Given the description of an element on the screen output the (x, y) to click on. 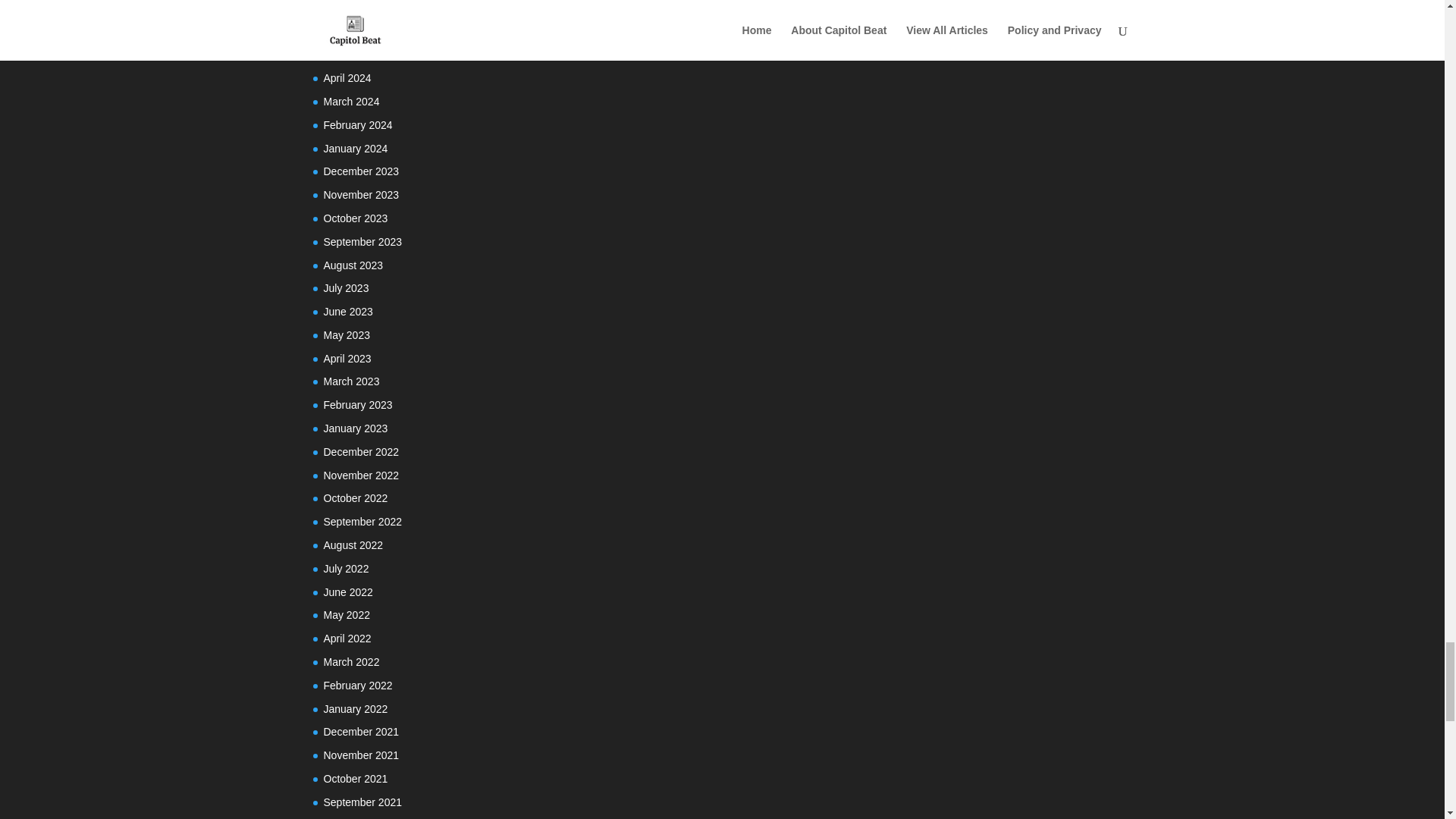
July 2024 (345, 8)
April 2024 (347, 78)
May 2024 (346, 54)
June 2024 (347, 31)
